Given the description of an element on the screen output the (x, y) to click on. 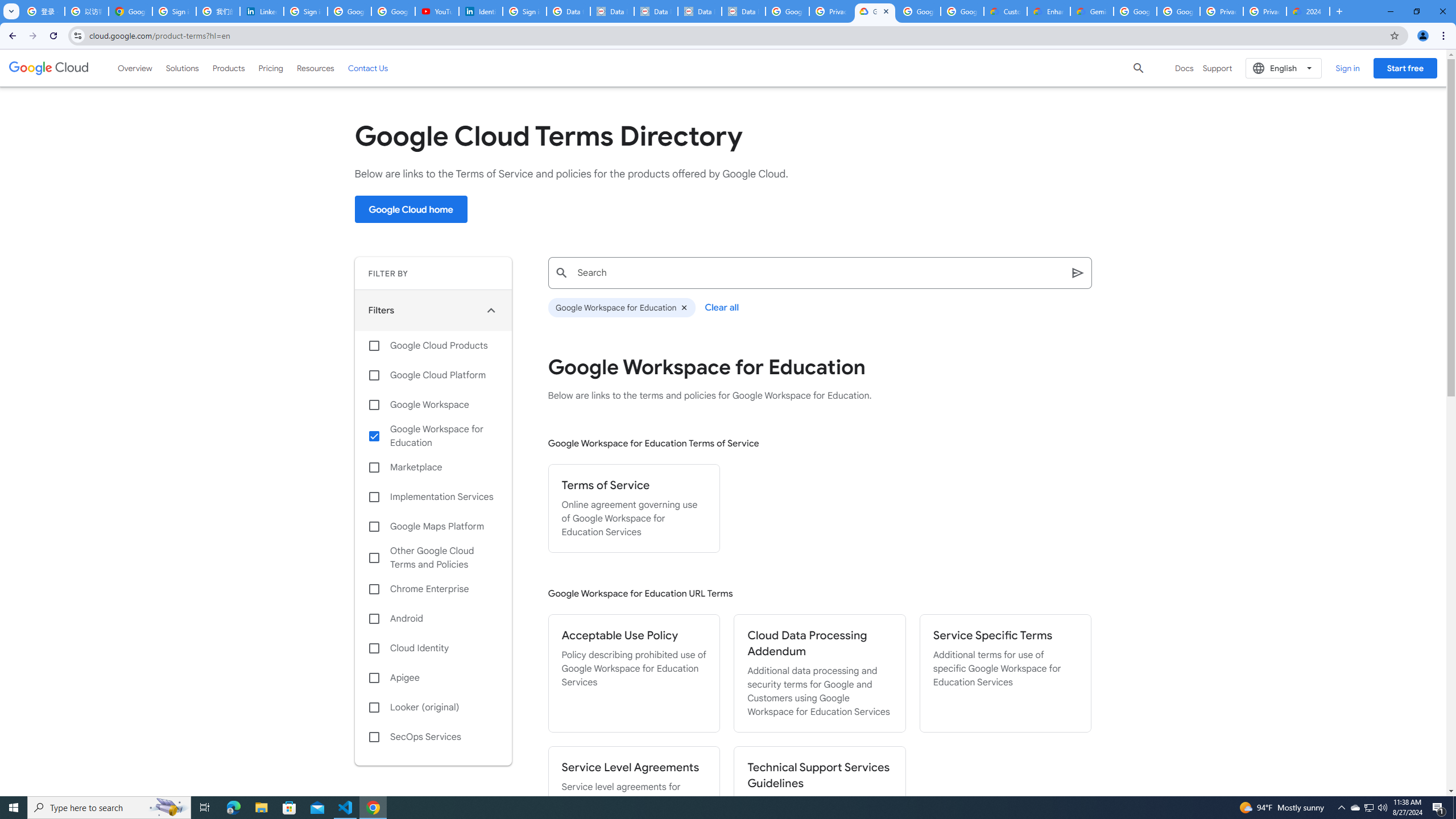
Google Workspace - Specific Terms (962, 11)
SecOps Services (432, 736)
Android (432, 618)
Data Privacy Framework (612, 11)
Apigee (432, 677)
Google Workspace - Specific Terms (918, 11)
Pricing (270, 67)
Looker (original) (432, 707)
